Given the description of an element on the screen output the (x, y) to click on. 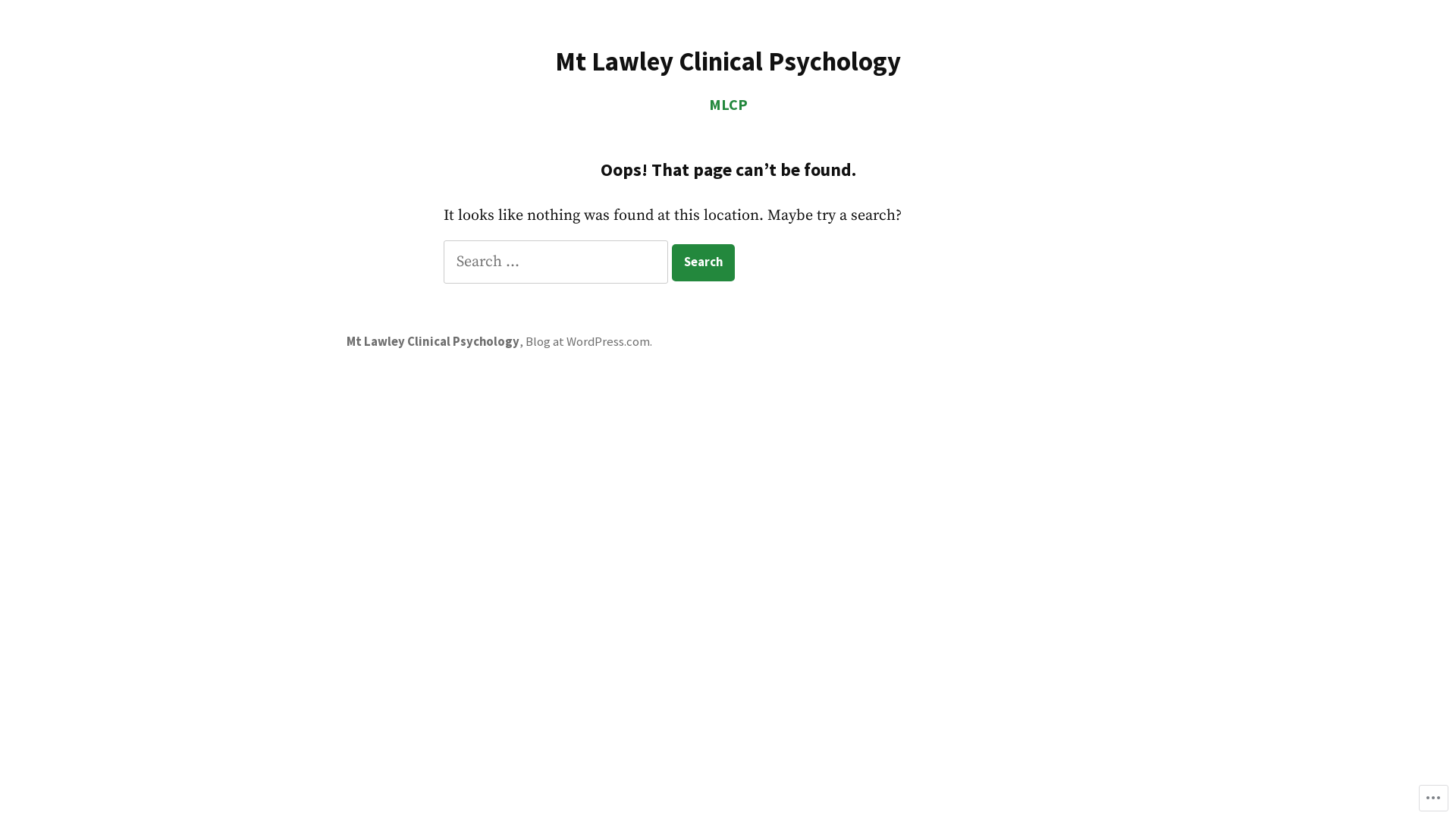
Mt Lawley Clinical Psychology Element type: text (432, 341)
MLCP Element type: text (727, 104)
Blog at WordPress.com. Element type: text (588, 341)
Mt Lawley Clinical Psychology Element type: text (727, 60)
Search Element type: text (702, 262)
